Given the description of an element on the screen output the (x, y) to click on. 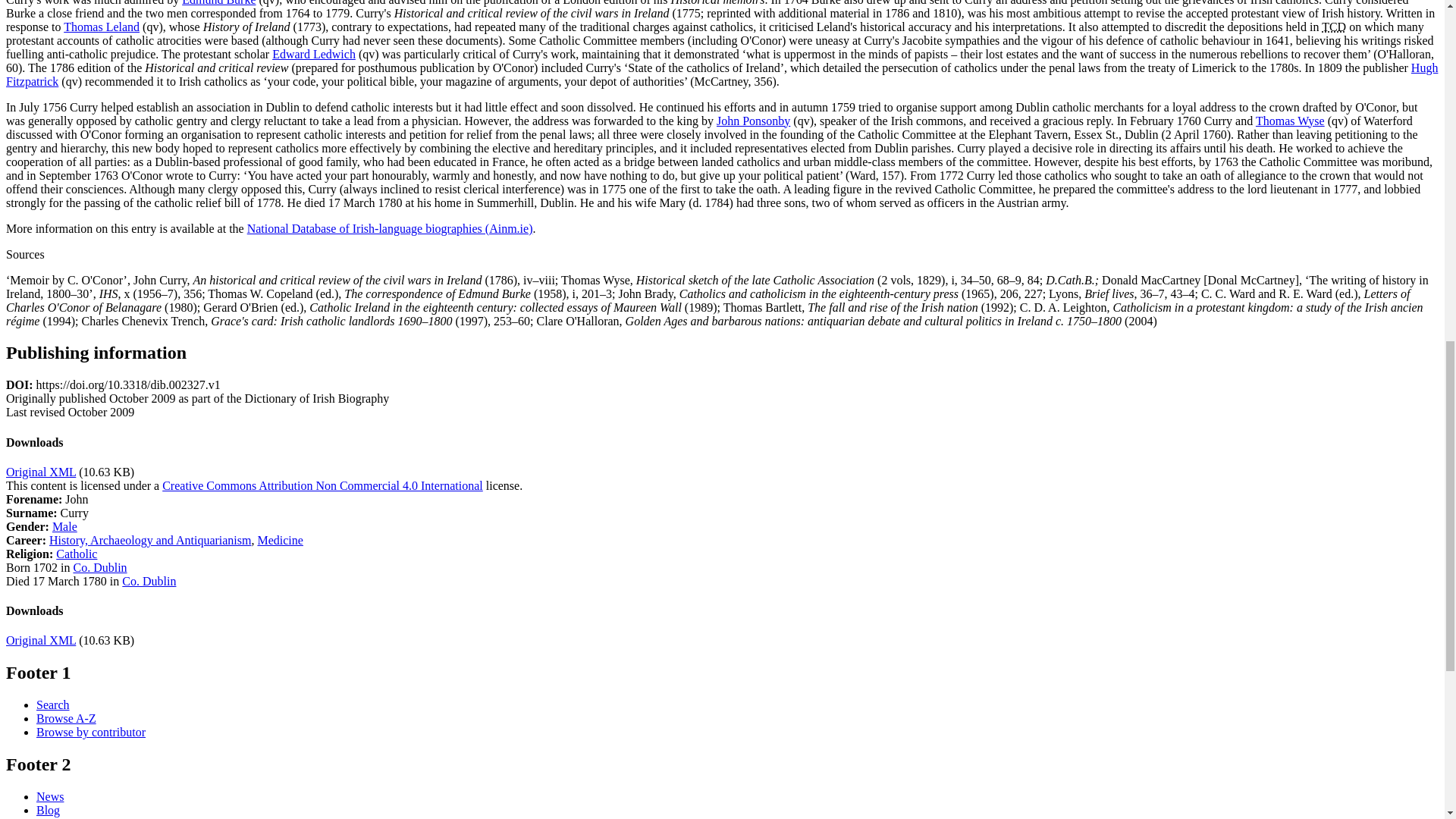
Edmund Burke (219, 2)
Thomas Leland (101, 25)
Thomas Wyse (1289, 119)
Trinity College, Dublin (1333, 25)
John Ponsonby (753, 119)
Edward Ledwich (313, 52)
